Given the description of an element on the screen output the (x, y) to click on. 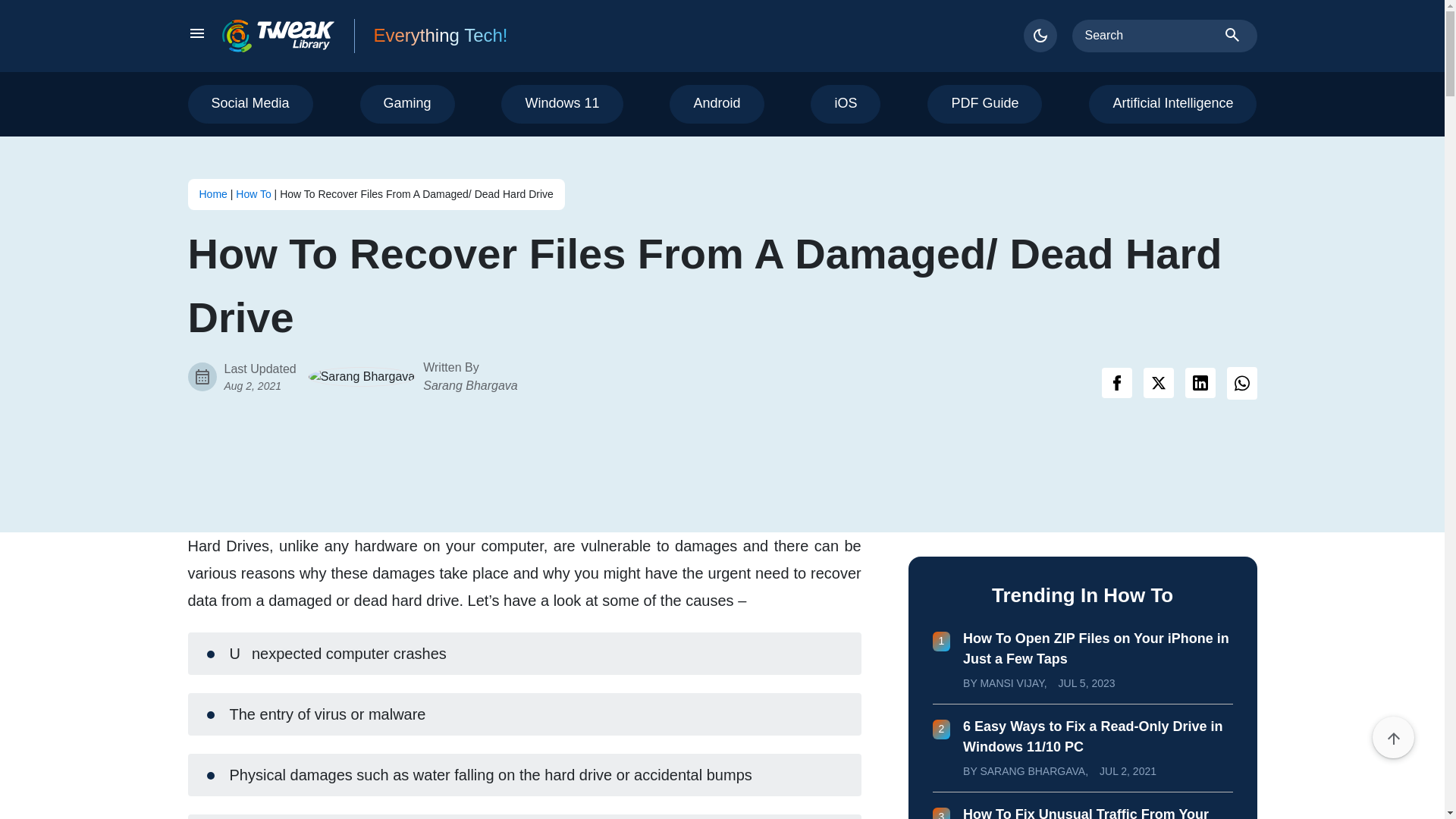
Search for (1150, 35)
How To (252, 193)
iOS (845, 104)
PDF Guide (984, 104)
Artificial Intelligence (1172, 104)
Gaming (406, 104)
Sarang Bhargava (470, 385)
Home (212, 193)
Android (715, 104)
Social Media (250, 104)
Windows 11 (561, 104)
